Given the description of an element on the screen output the (x, y) to click on. 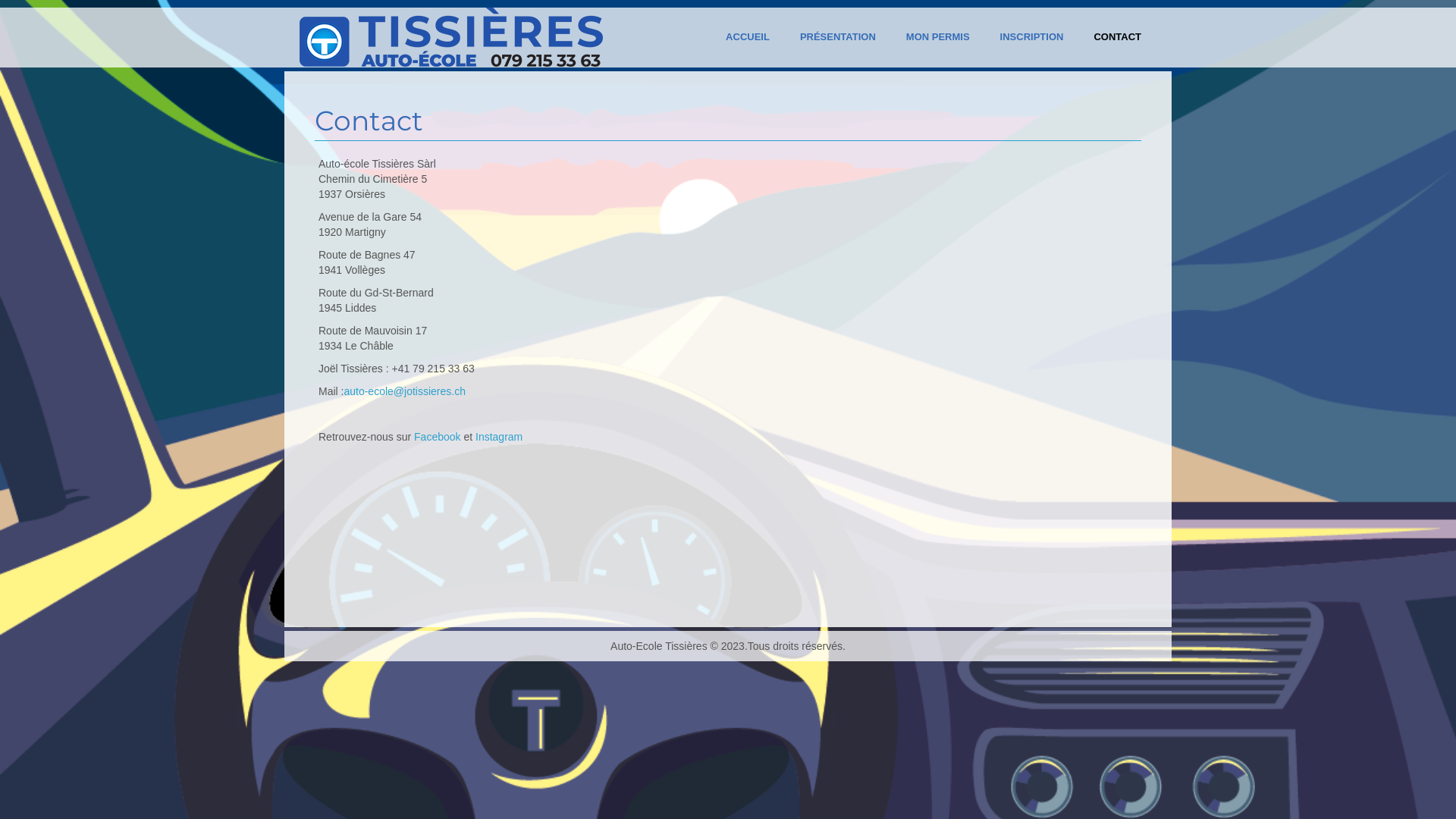
CONTACT Element type: text (1117, 37)
Instagram Element type: text (498, 436)
INSCRIPTION Element type: text (1032, 37)
auto-ecole@jotissieres.ch Element type: text (404, 391)
ACCUEIL Element type: text (747, 37)
MON PERMIS Element type: text (938, 37)
Facebook Element type: text (437, 436)
